Given the description of an element on the screen output the (x, y) to click on. 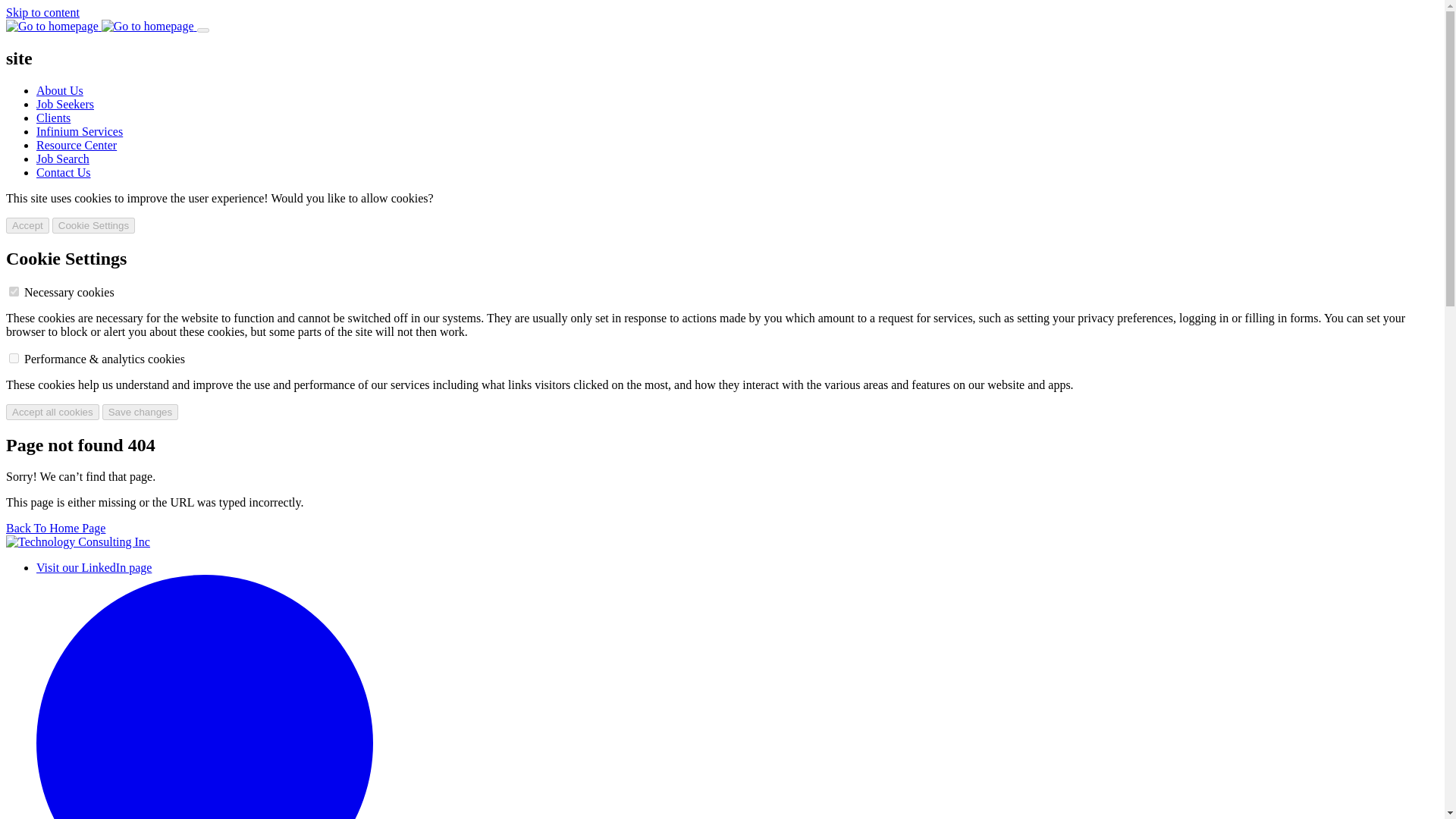
Infinium Services (79, 131)
Job Seekers (65, 103)
About Us (59, 90)
Resource Center (76, 144)
Cookie Settings (93, 225)
on (13, 357)
Job Search (62, 158)
Back To Home Page (54, 527)
Contact Us (63, 172)
Save changes (139, 412)
